Given the description of an element on the screen output the (x, y) to click on. 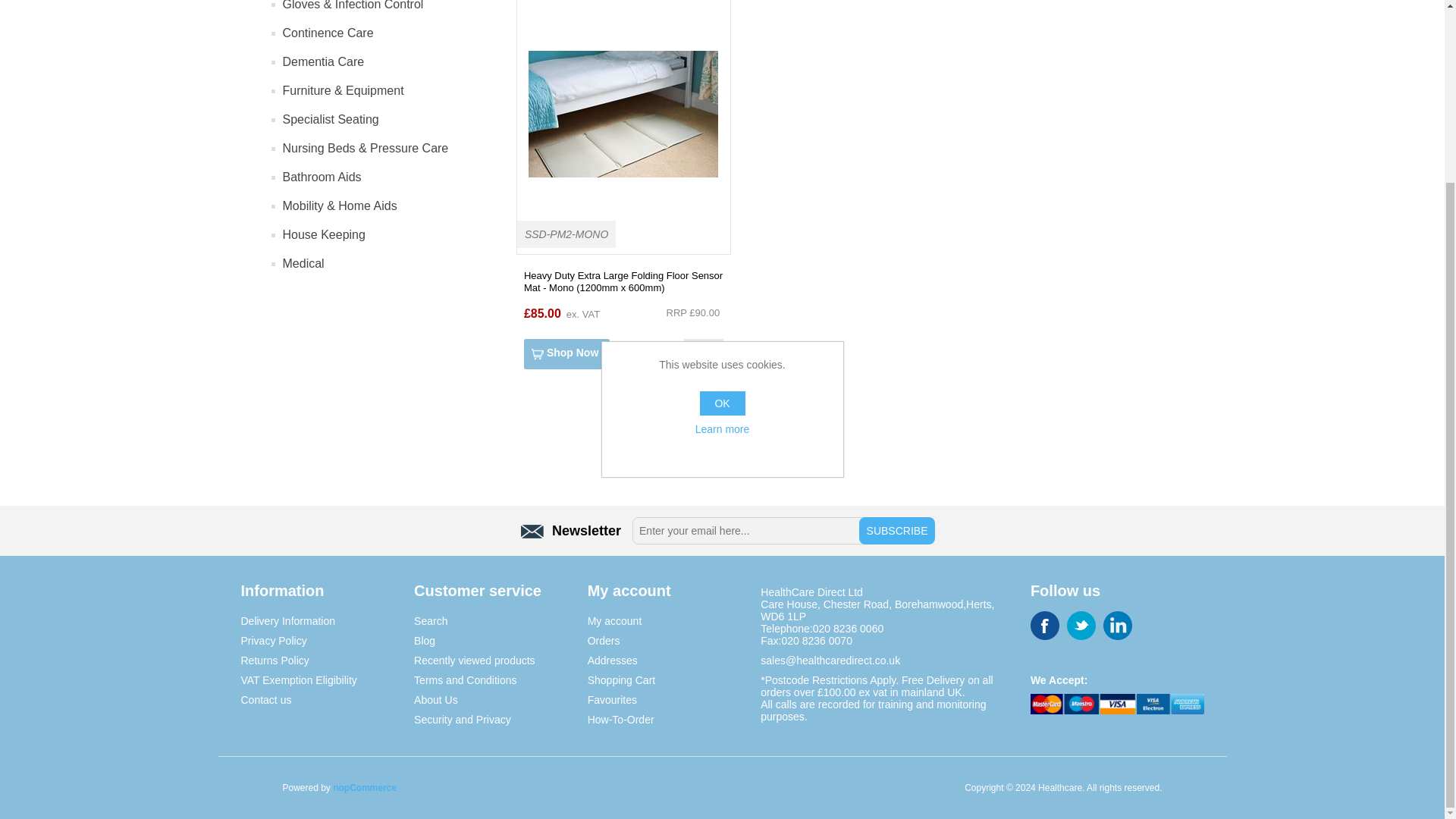
Add to favourite (702, 354)
